Given the description of an element on the screen output the (x, y) to click on. 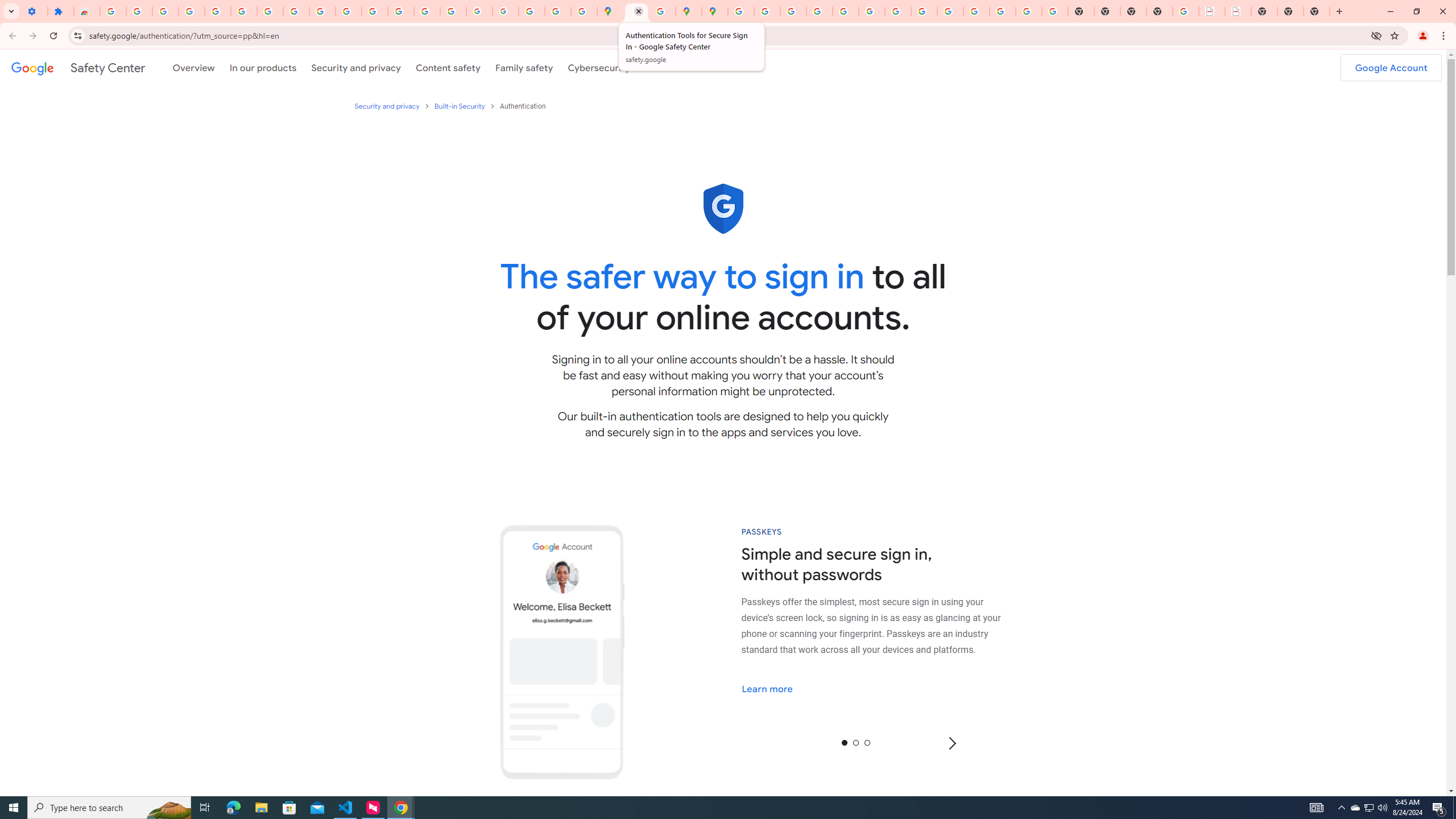
1 (855, 742)
Privacy Help Center - Policies Help (792, 11)
YouTube (322, 11)
